Given the description of an element on the screen output the (x, y) to click on. 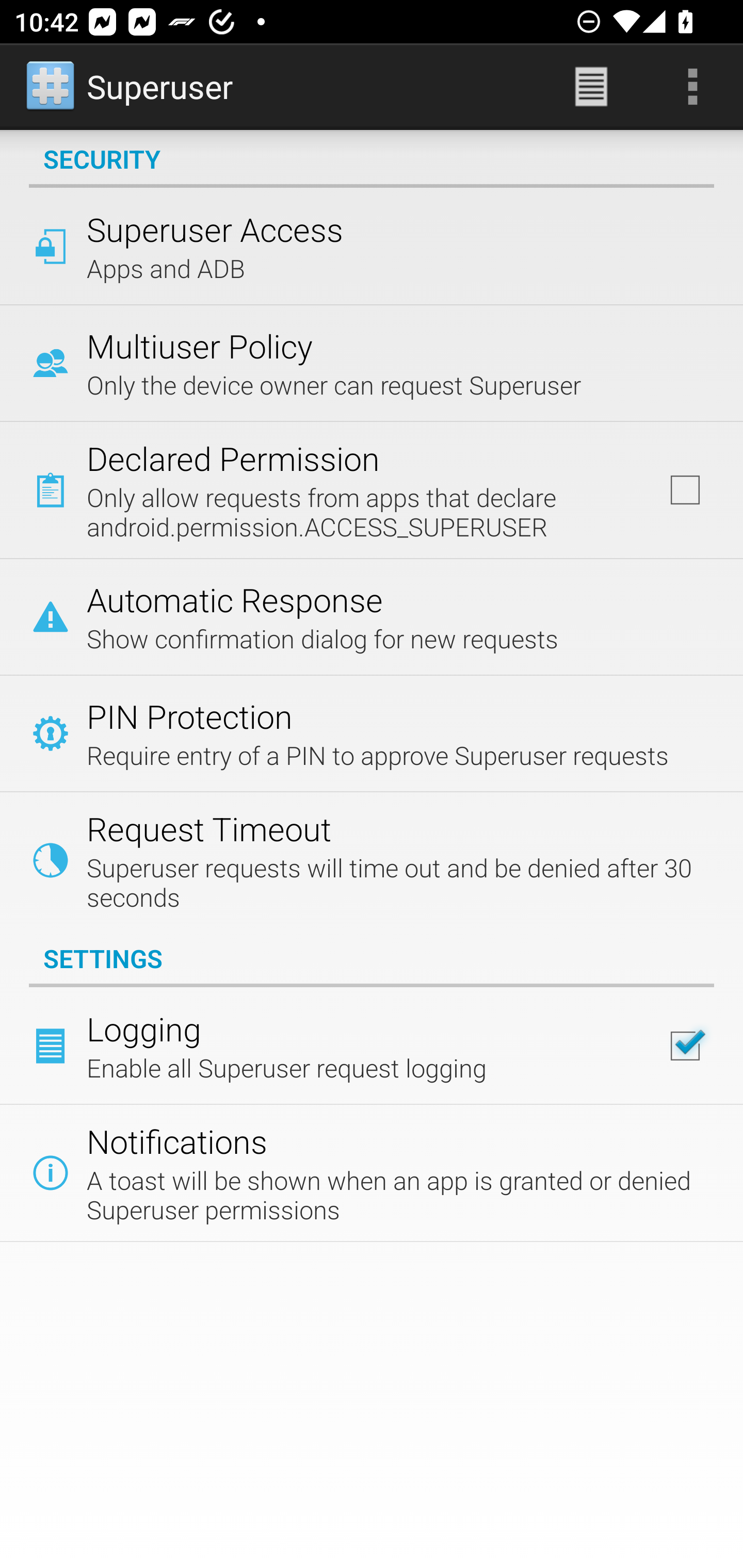
Superuser (130, 86)
Logs (590, 86)
More options (692, 86)
Superuser Access Apps and ADB (371, 246)
Logging Enable all Superuser request logging (371, 1045)
